Given the description of an element on the screen output the (x, y) to click on. 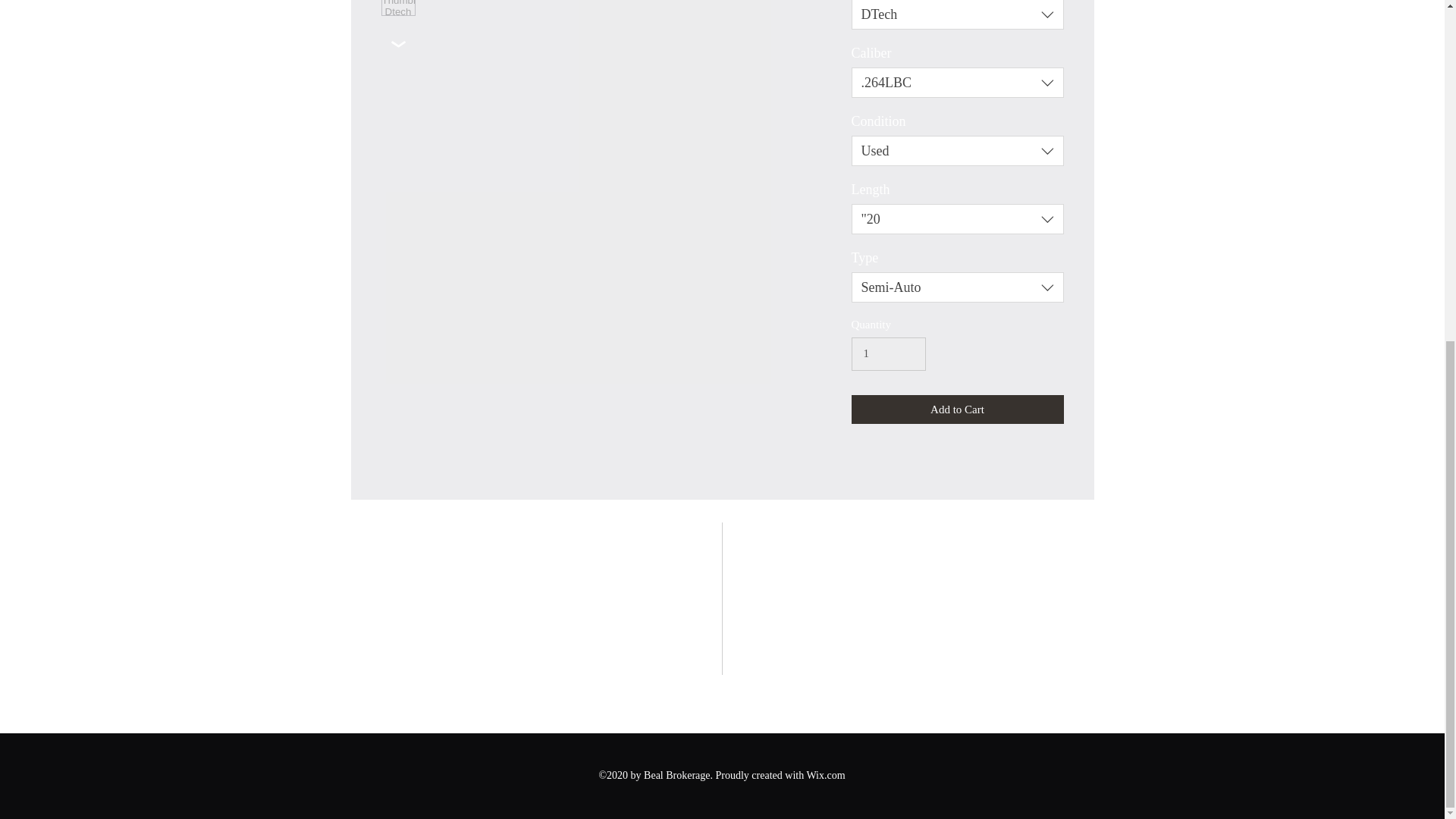
Add to Cart (956, 409)
"20 (956, 218)
1 (887, 354)
.264LBC (956, 82)
DTech (956, 14)
Semi-Auto (956, 286)
Used (956, 150)
